Given the description of an element on the screen output the (x, y) to click on. 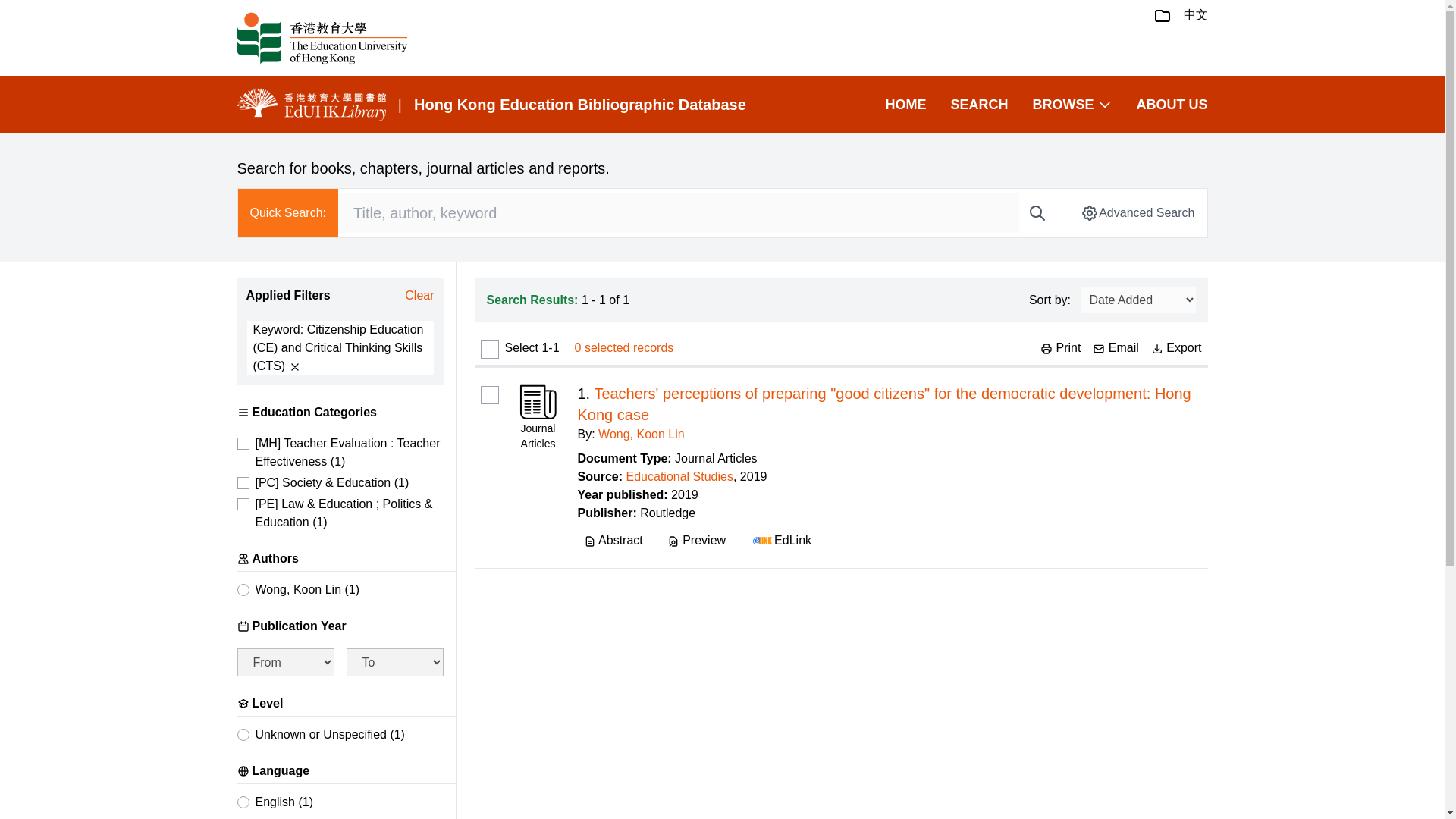
Advanced Search (1136, 212)
Preview (696, 540)
EdLink (780, 540)
Clear (418, 295)
Wong, Koon Lin (641, 433)
HOME (905, 104)
Educational Studies (679, 476)
Hong Kong Education Bibliographic Database (579, 104)
Print (1060, 348)
SEARCH (978, 104)
0 selected records (624, 348)
ABOUT US (1171, 104)
BROWSE (1072, 104)
Export (1176, 348)
Email (1115, 348)
